Given the description of an element on the screen output the (x, y) to click on. 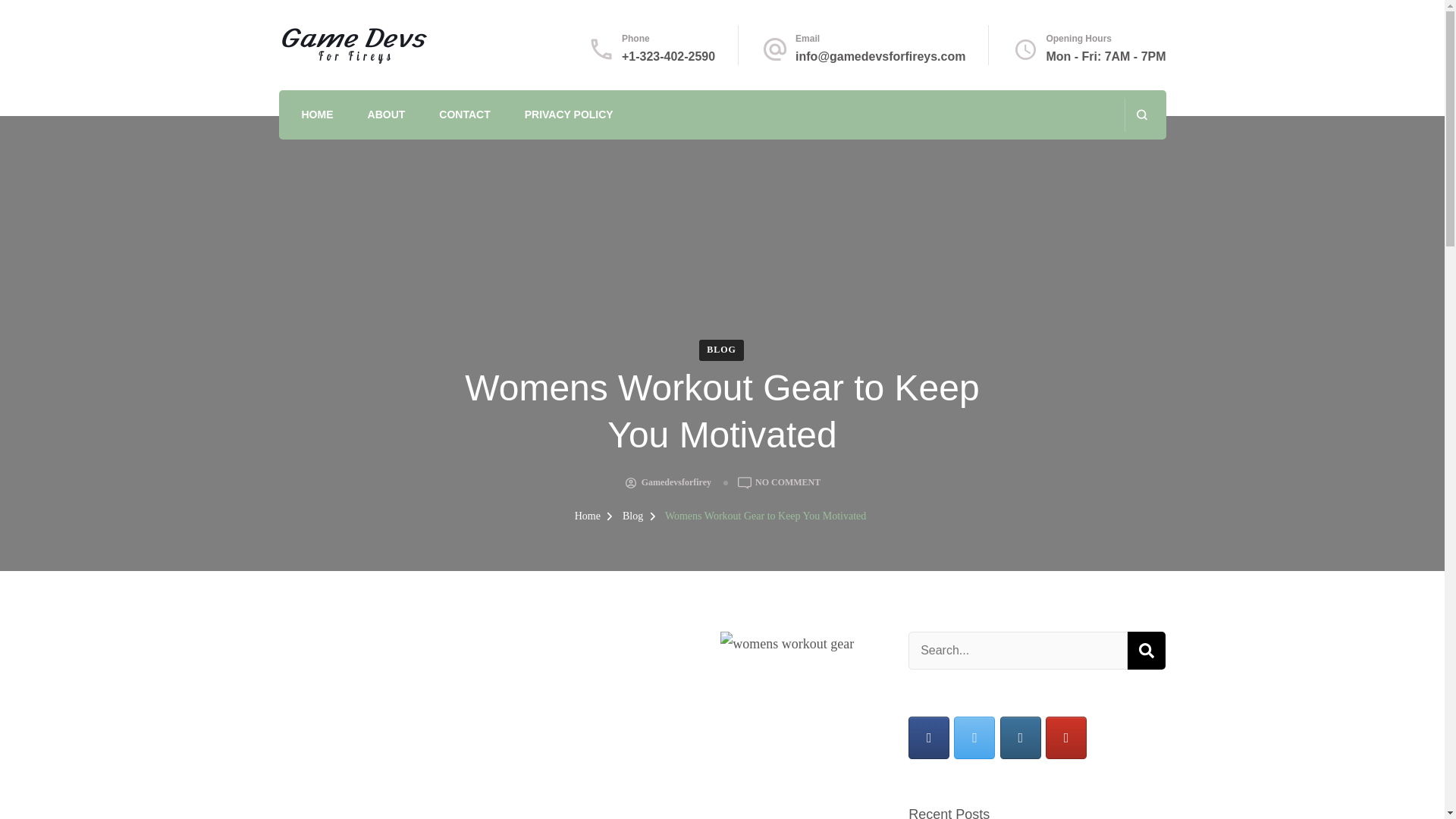
HOME (317, 115)
ABOUT (387, 115)
PRIVACY POLICY (568, 115)
Blog (634, 515)
Game Devs For Fireys on Youtube (1065, 737)
Game Devs For Fireys on Facebook (928, 737)
Gamedevsforfirey (676, 483)
Game Devs For Fireys (393, 46)
Game Devs For Fireys on Instagram (1020, 737)
